Given the description of an element on the screen output the (x, y) to click on. 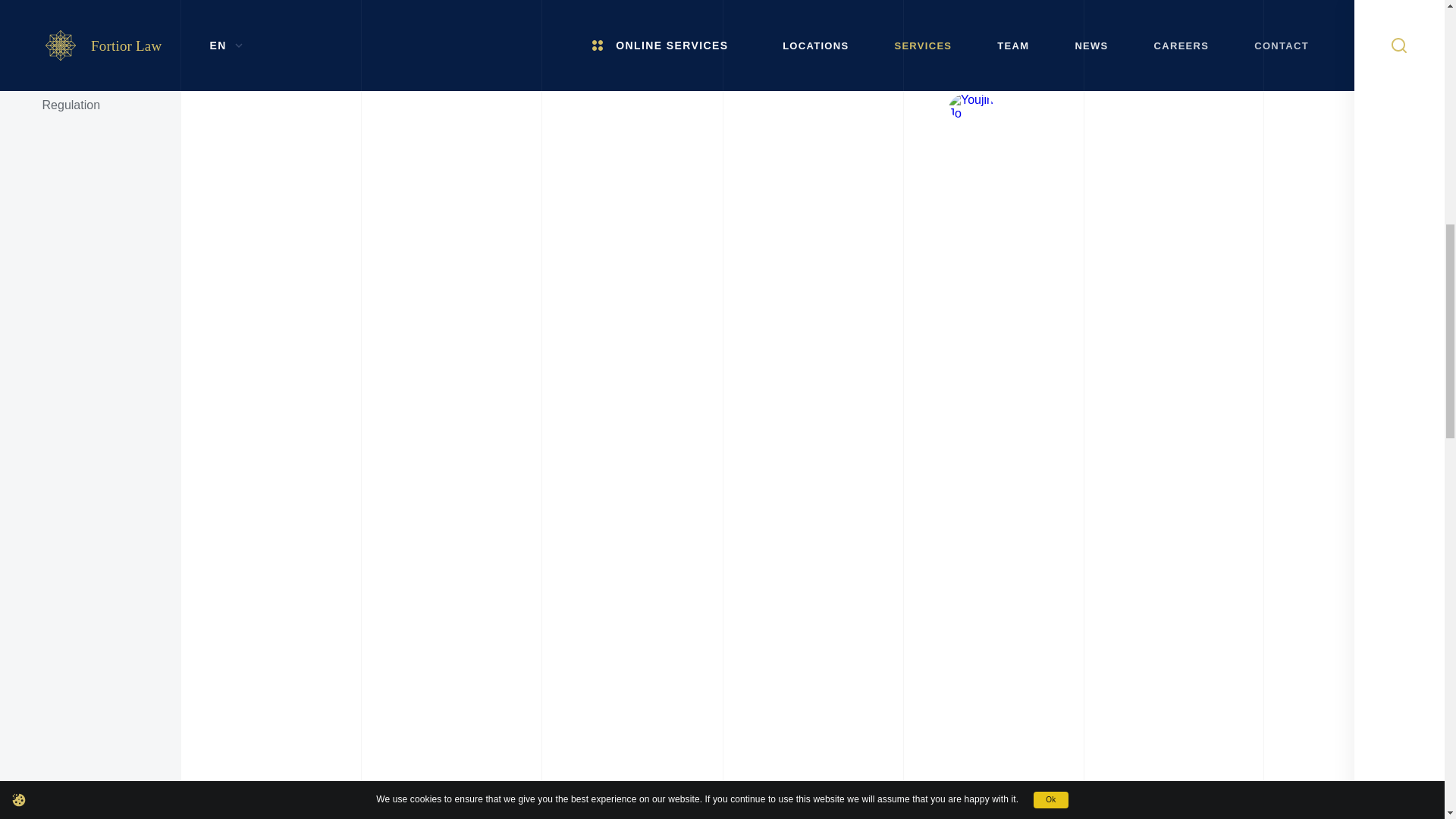
Investment Arbitration (90, 30)
